Given the description of an element on the screen output the (x, y) to click on. 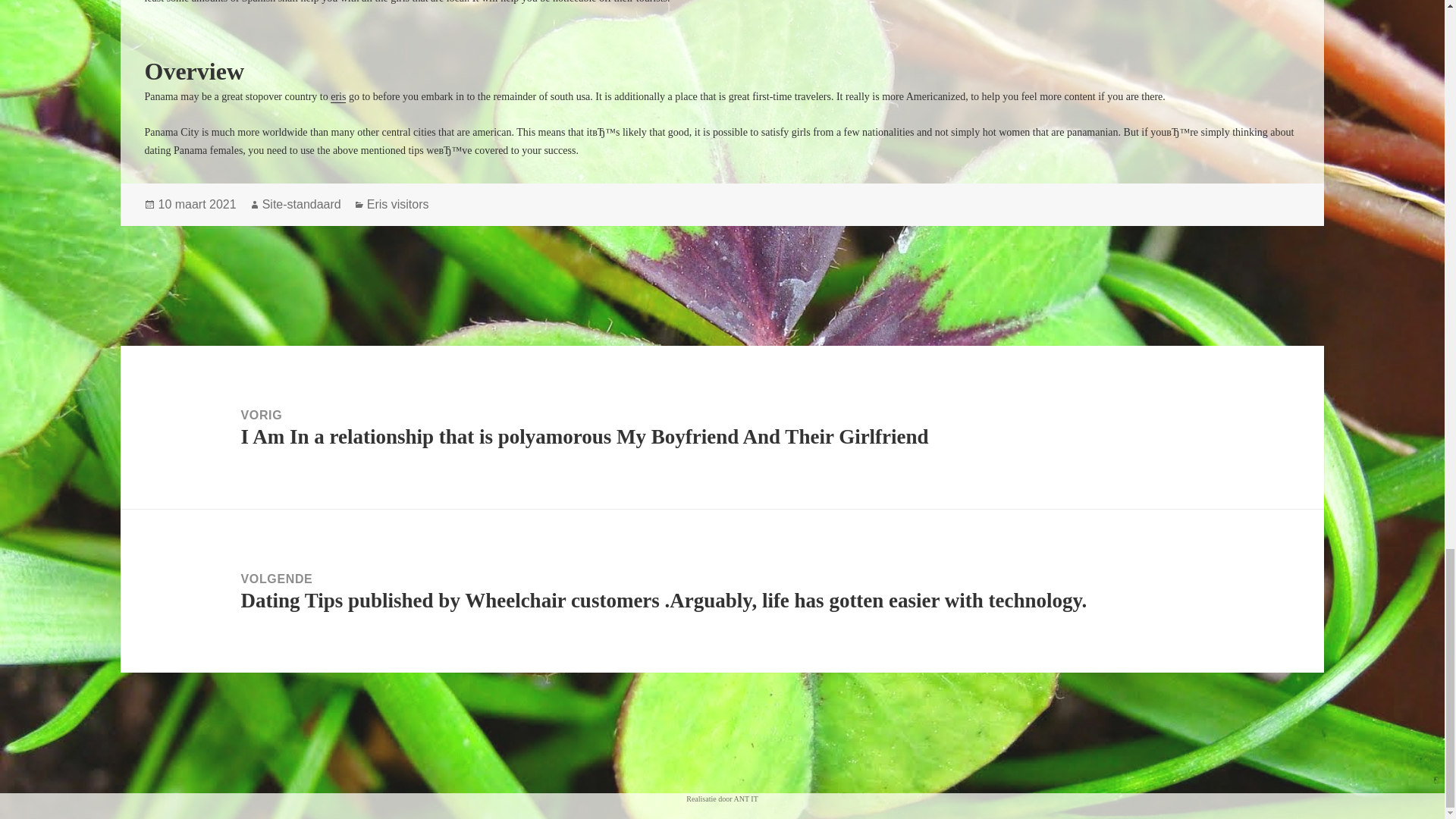
Eris visitors (397, 204)
10 maart 2021 (196, 204)
eris (338, 96)
ANT IT (745, 798)
Site-standaard (301, 204)
